Given the description of an element on the screen output the (x, y) to click on. 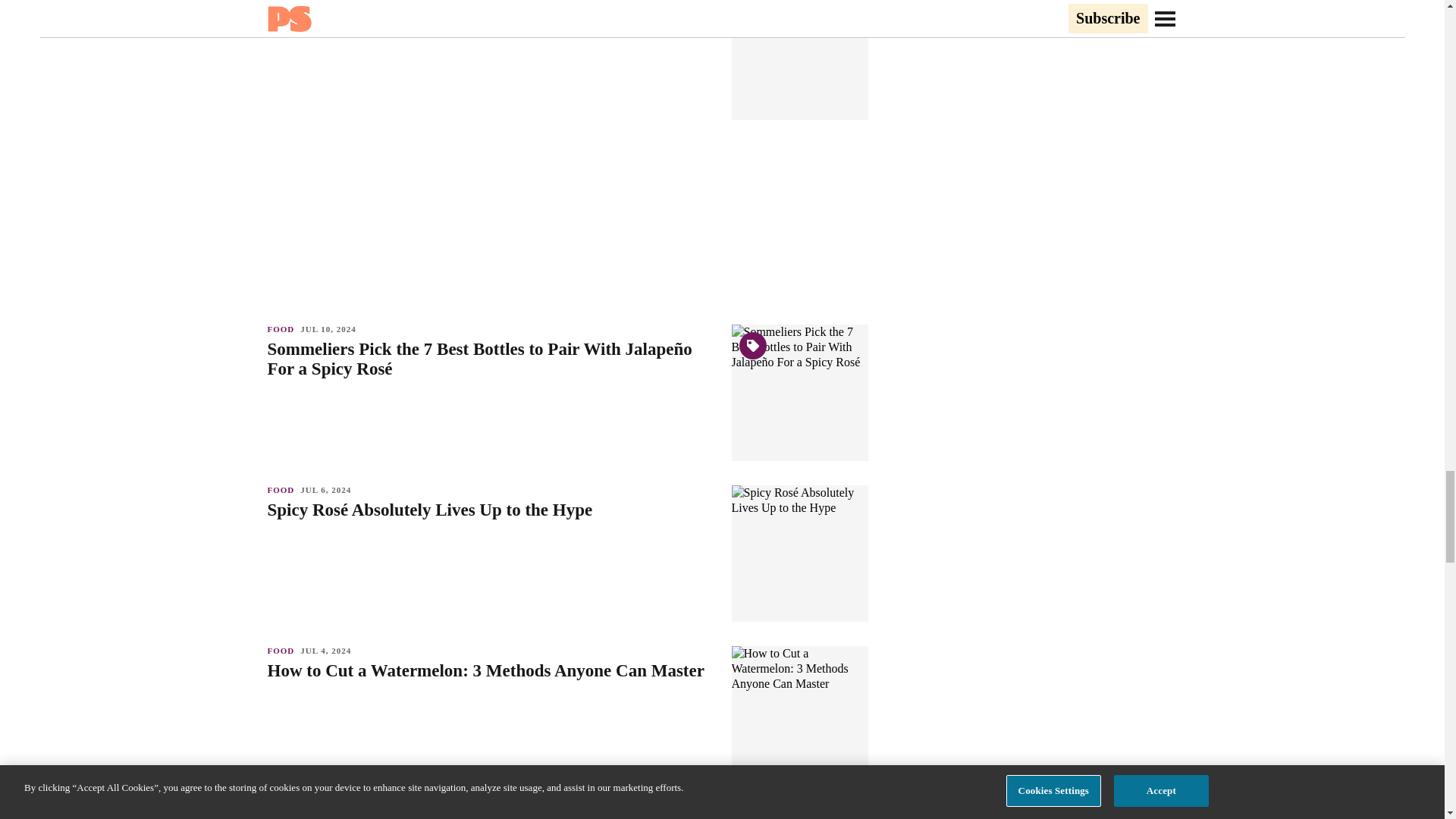
Amazon's 13 Best Cookware Deals to Shop This Prime Day (491, 9)
